Given the description of an element on the screen output the (x, y) to click on. 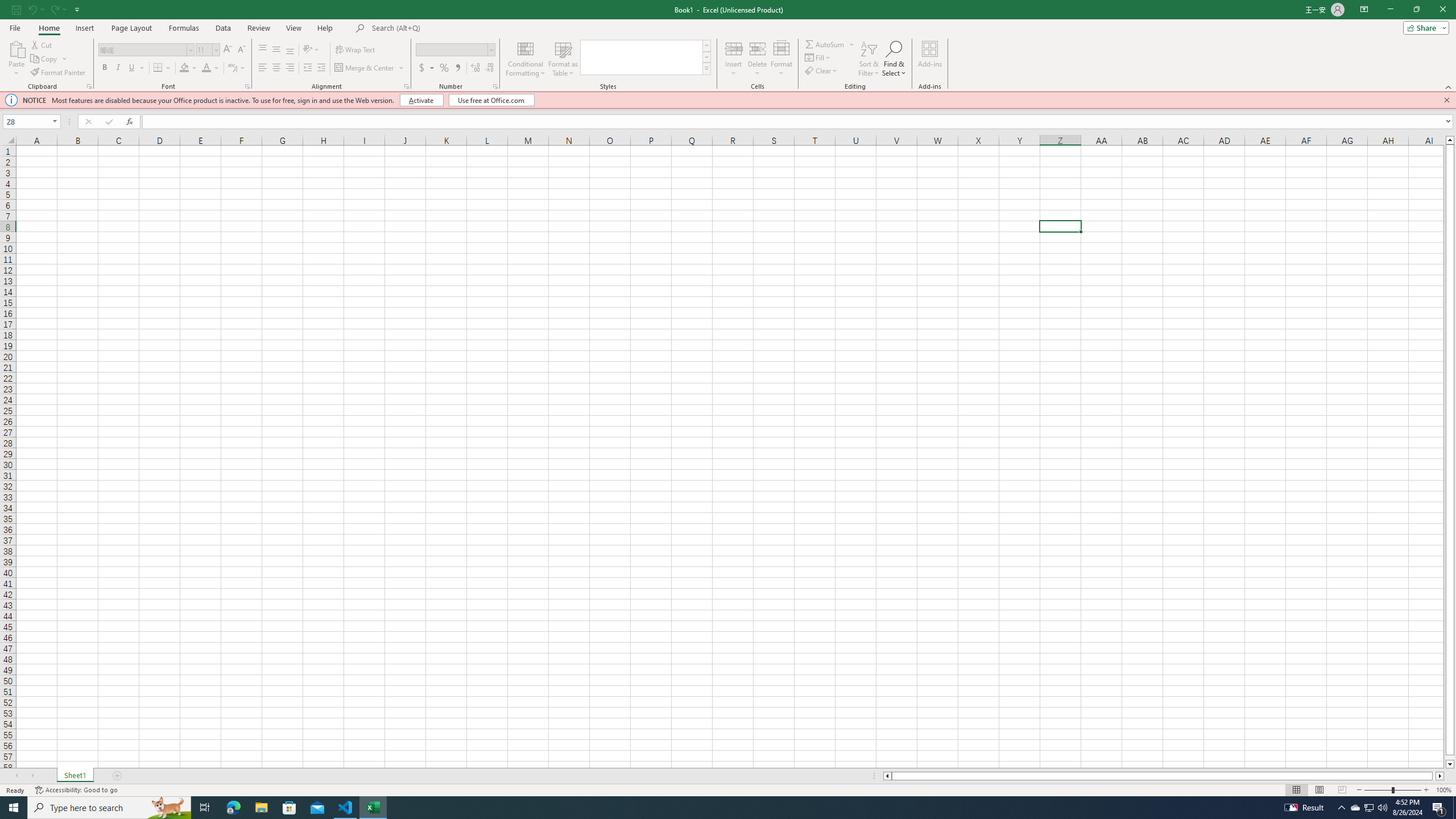
Fill Color (183, 67)
Decrease Font Size (240, 49)
